Given the description of an element on the screen output the (x, y) to click on. 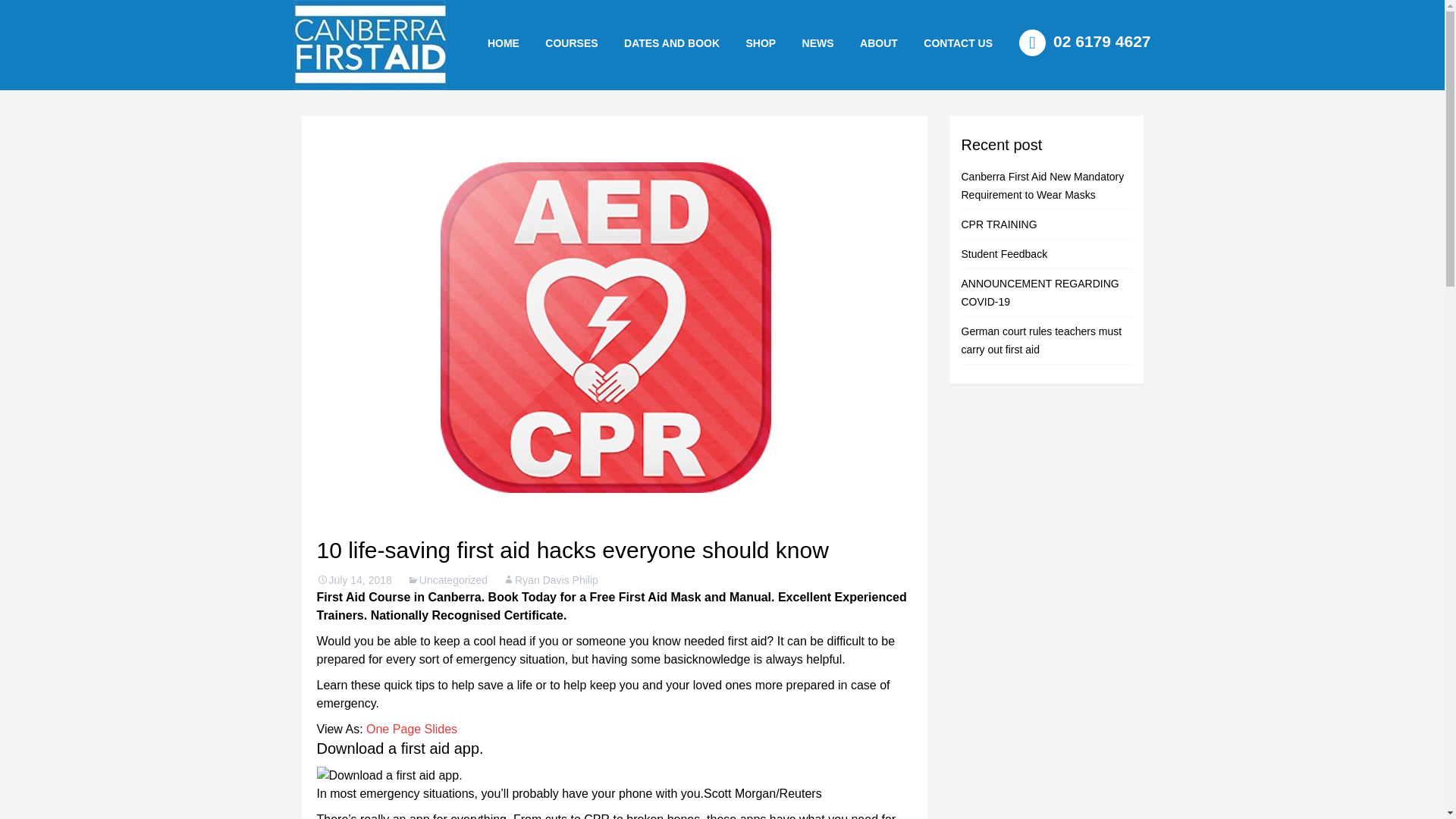
COURSES (571, 42)
DATES AND BOOK (671, 42)
SHOP (760, 42)
One Page (393, 728)
Slides (441, 728)
02 6179 4627 (1084, 40)
View all posts by Ryan Davis Philip (550, 580)
CONTACT US (958, 42)
Uncategorized (447, 580)
COURSE LOCATIONS (988, 76)
Ryan Davis Philip (550, 580)
Canberra First Aid and Training (369, 45)
WHY CHOOSE OUR FIRST AID COURSE? (924, 81)
July 14, 2018 (354, 580)
ABOUT (878, 42)
